Given the description of an element on the screen output the (x, y) to click on. 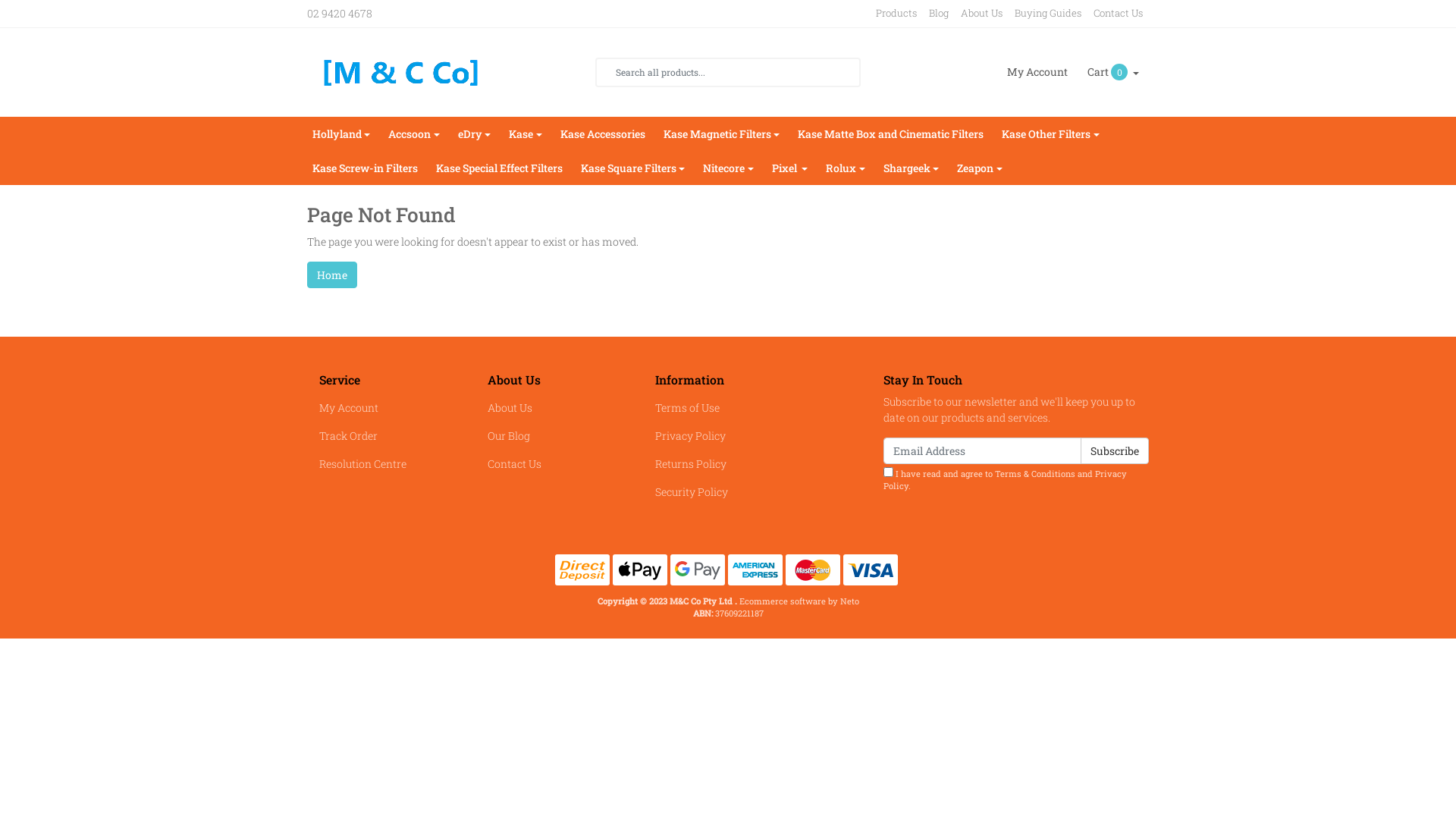
Terms of Use Element type: text (715, 407)
Kase Matte Box and Cinematic Filters Element type: text (890, 133)
Home Element type: text (332, 274)
eDry Element type: text (474, 133)
Products Element type: text (895, 13)
Privacy Policy Element type: text (715, 435)
Kase Accessories Element type: text (602, 133)
Kase Special Effect Filters Element type: text (498, 167)
Accsoon Element type: text (413, 133)
My Account Element type: text (1037, 71)
Ecommerce software by Neto Element type: text (798, 600)
Contact Us Element type: text (1117, 13)
Nitecore Element type: text (727, 167)
Search Element type: text (605, 72)
Track Order Element type: text (379, 435)
Cart 0 Element type: text (1112, 71)
Returns Policy Element type: text (715, 463)
Kase Square Filters Element type: text (632, 167)
Contact Us Element type: text (548, 463)
Privacy Policy Element type: text (1004, 479)
M&C Co Pty Ltd   Element type: hover (403, 70)
My Account Element type: text (379, 407)
About Us Element type: text (548, 407)
Rolux Element type: text (845, 167)
Subscribe Element type: text (1114, 450)
Kase Magnetic Filters Element type: text (721, 133)
Hollyland Element type: text (341, 133)
Terms & Conditions Element type: text (1034, 473)
Kase Screw-in Filters Element type: text (364, 167)
Our Blog Element type: text (548, 435)
Zeapon Element type: text (979, 167)
Kase Other Filters Element type: text (1050, 133)
Buying Guides Element type: text (1047, 13)
Resolution Centre Element type: text (379, 463)
02 9420 4678 Element type: text (357, 13)
Skip to main content Element type: text (0, 0)
Pixel Element type: text (789, 167)
Blog Element type: text (938, 13)
Kase Element type: text (525, 133)
Security Policy Element type: text (715, 491)
Shargeek Element type: text (911, 167)
About Us Element type: text (981, 13)
